Given the description of an element on the screen output the (x, y) to click on. 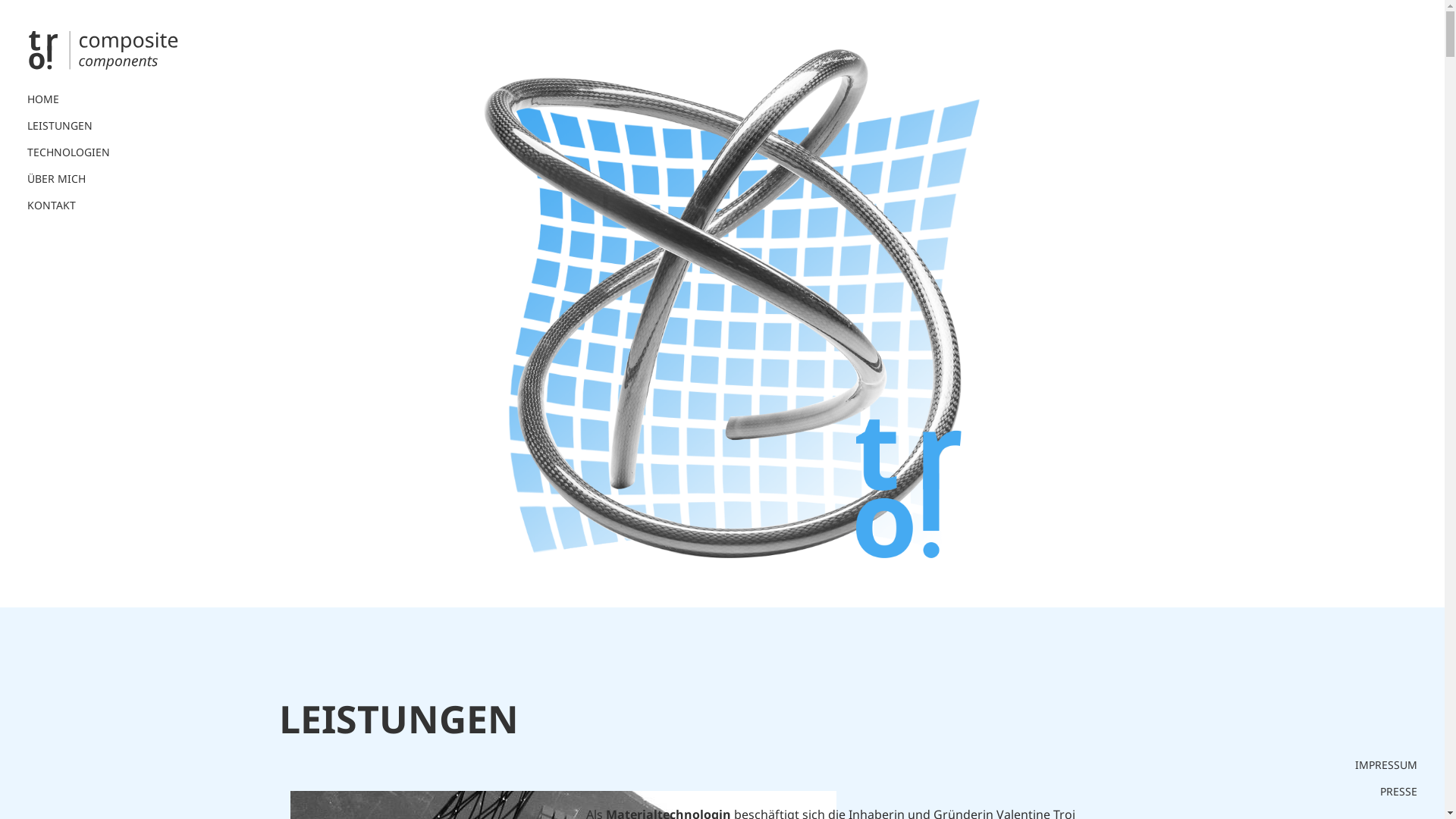
HOME Element type: text (75, 98)
LEISTUNGEN Element type: text (75, 125)
IMPRESSUM Element type: text (1386, 764)
PRESSE Element type: text (1398, 791)
KONTAKT Element type: text (75, 205)
TECHNOLOGIEN Element type: text (75, 152)
